Given the description of an element on the screen output the (x, y) to click on. 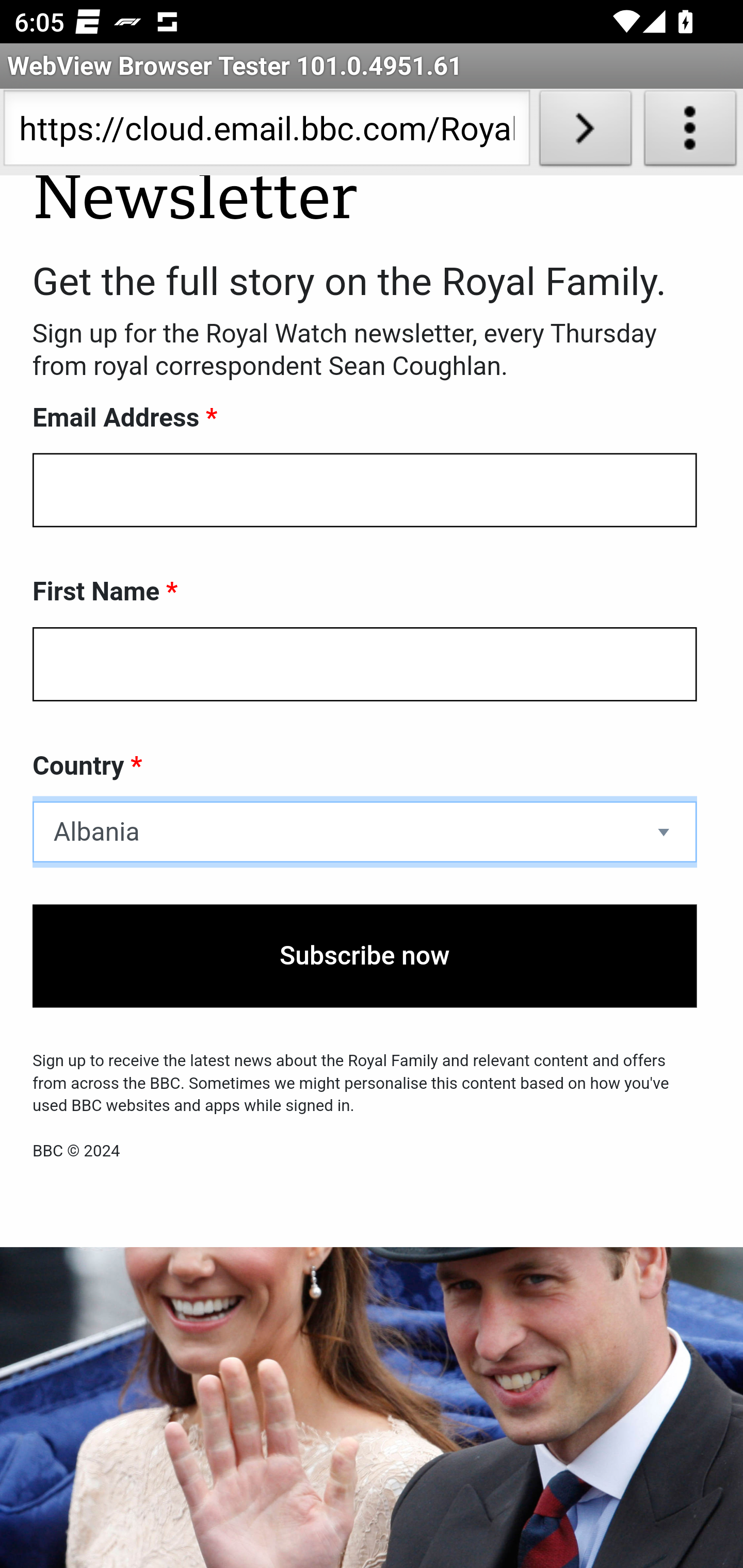
Load URL (585, 132)
About WebView (690, 132)
Albania (364, 833)
Subscribe now (364, 956)
